Given the description of an element on the screen output the (x, y) to click on. 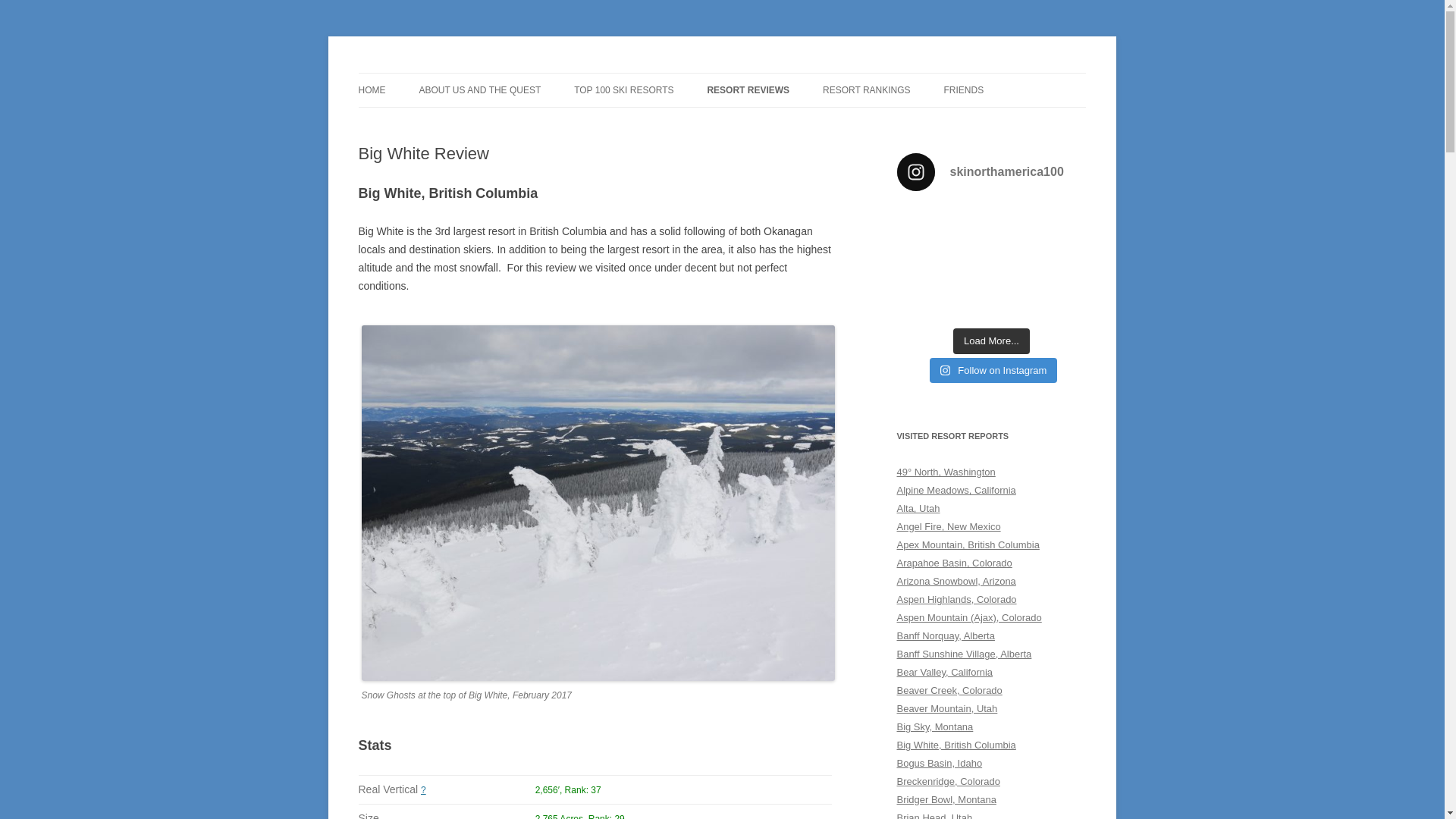
ABOUT US AND THE QUEST (479, 90)
Ski North America's Top 100 Resorts (529, 72)
TOP 100 SKI RESORTS (622, 90)
RESORT REVIEWS (747, 90)
